Given the description of an element on the screen output the (x, y) to click on. 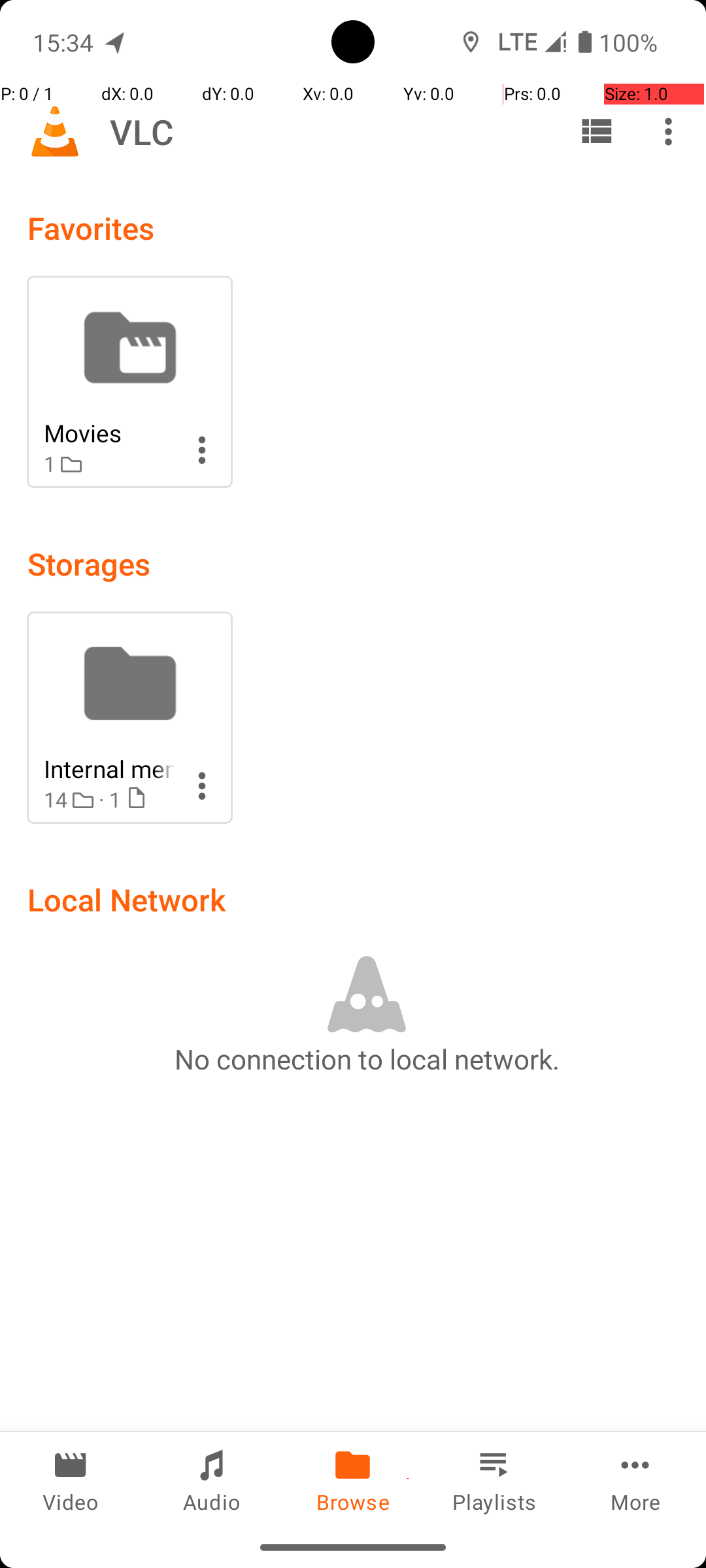
Folder: Internal memory, 14 subfolders, 1 media file Element type: androidx.cardview.widget.CardView (129, 717)
14 §*§ · 1 *§* Element type: android.widget.TextView (108, 799)
